Given the description of an element on the screen output the (x, y) to click on. 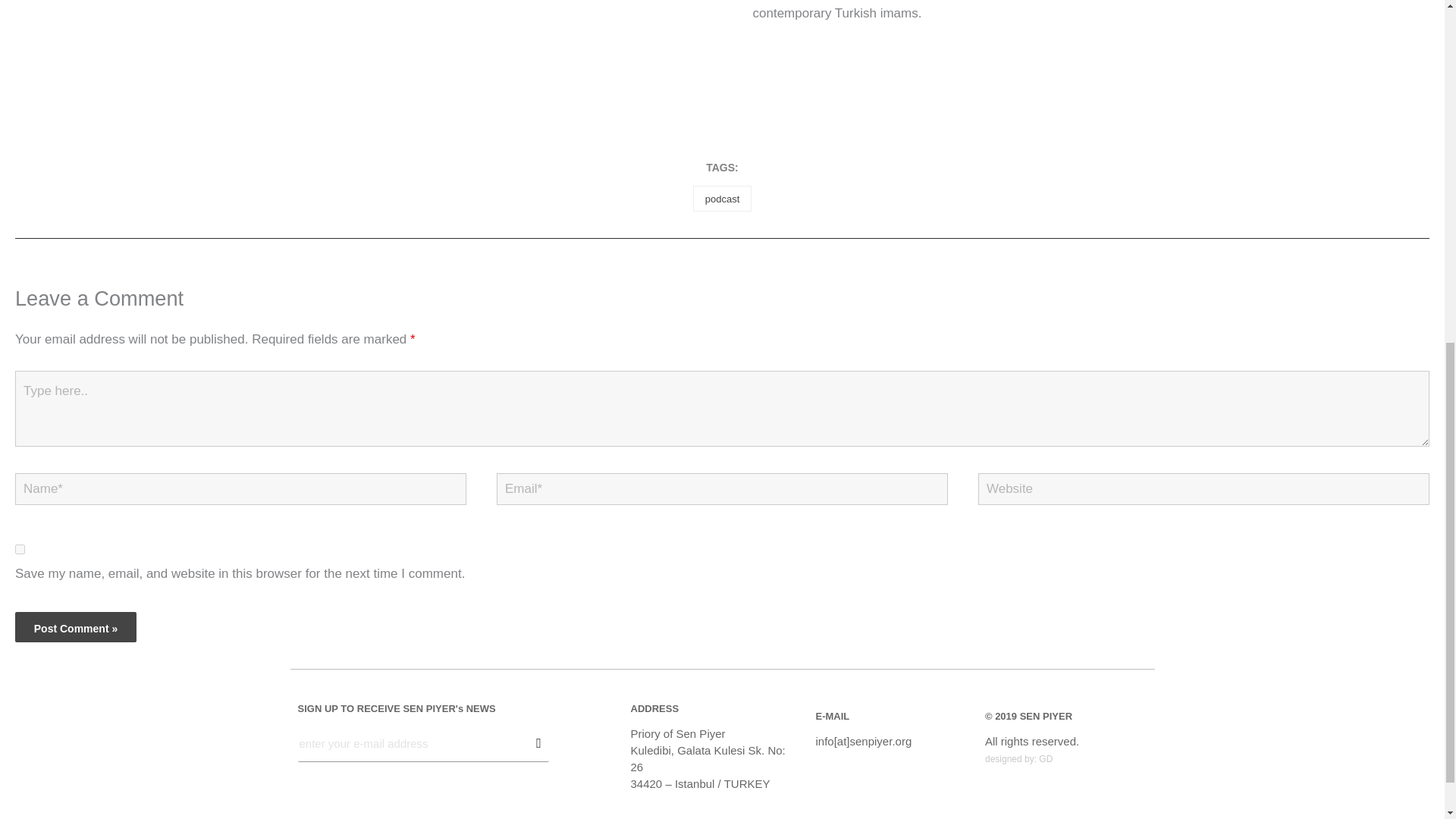
podcast (722, 198)
GD (1045, 758)
yes (19, 549)
